Given the description of an element on the screen output the (x, y) to click on. 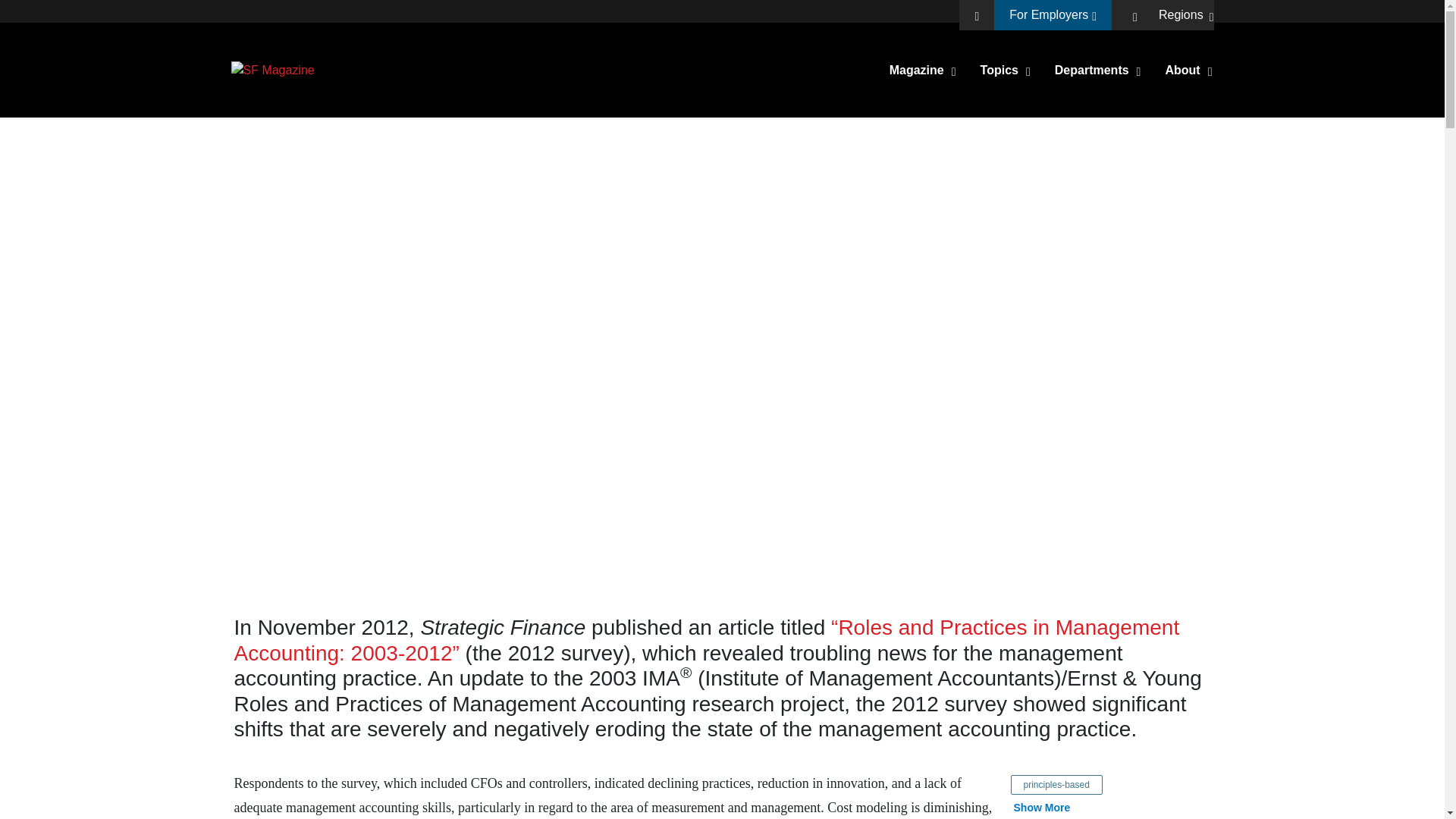
Regions (1186, 15)
For Employers (1052, 15)
Topics (1004, 69)
Departments (1097, 69)
Magazine (922, 69)
